Given the description of an element on the screen output the (x, y) to click on. 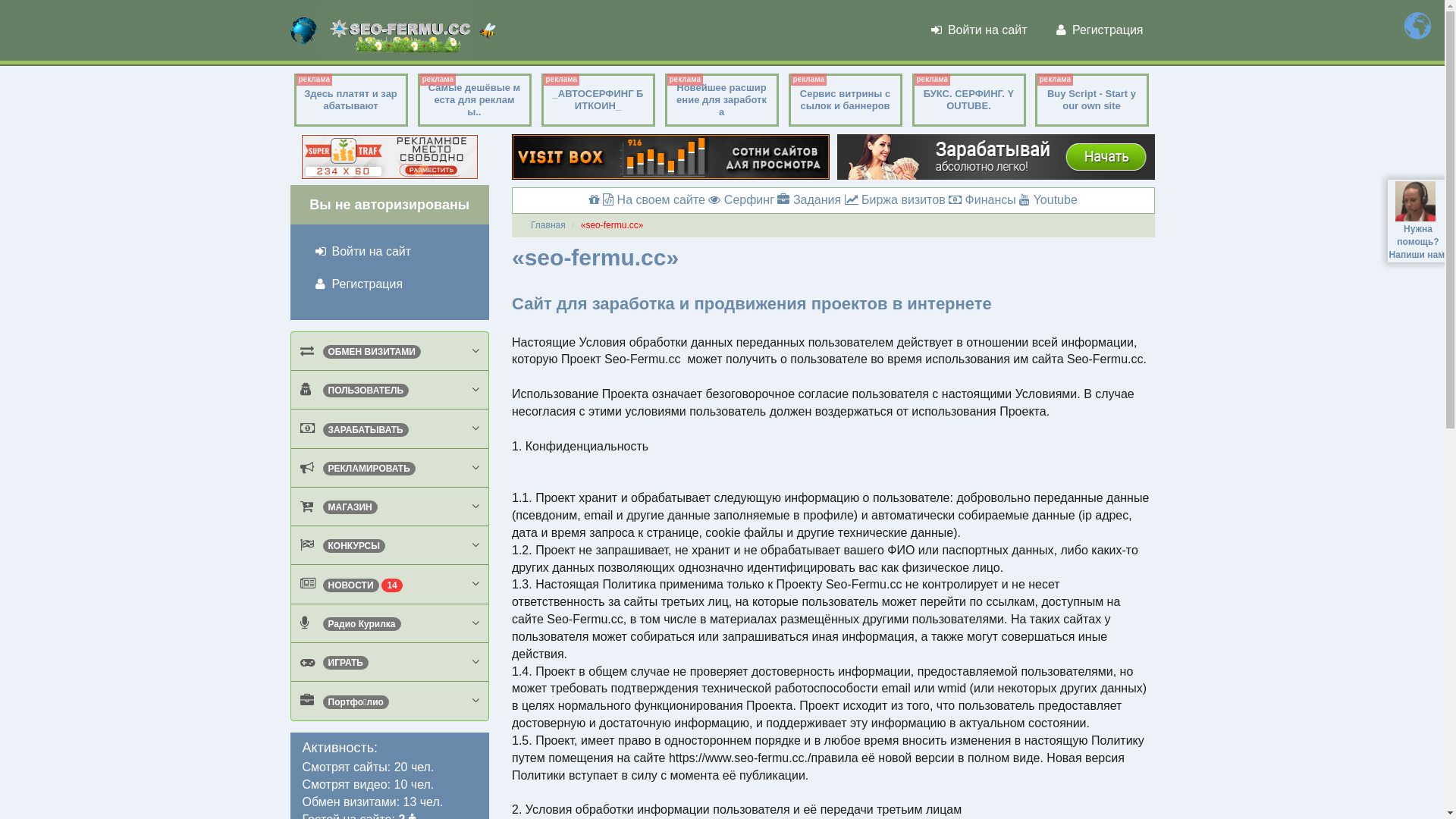
 Youtube Element type: text (1048, 199)
  Element type: text (1417, 201)
